Given the description of an element on the screen output the (x, y) to click on. 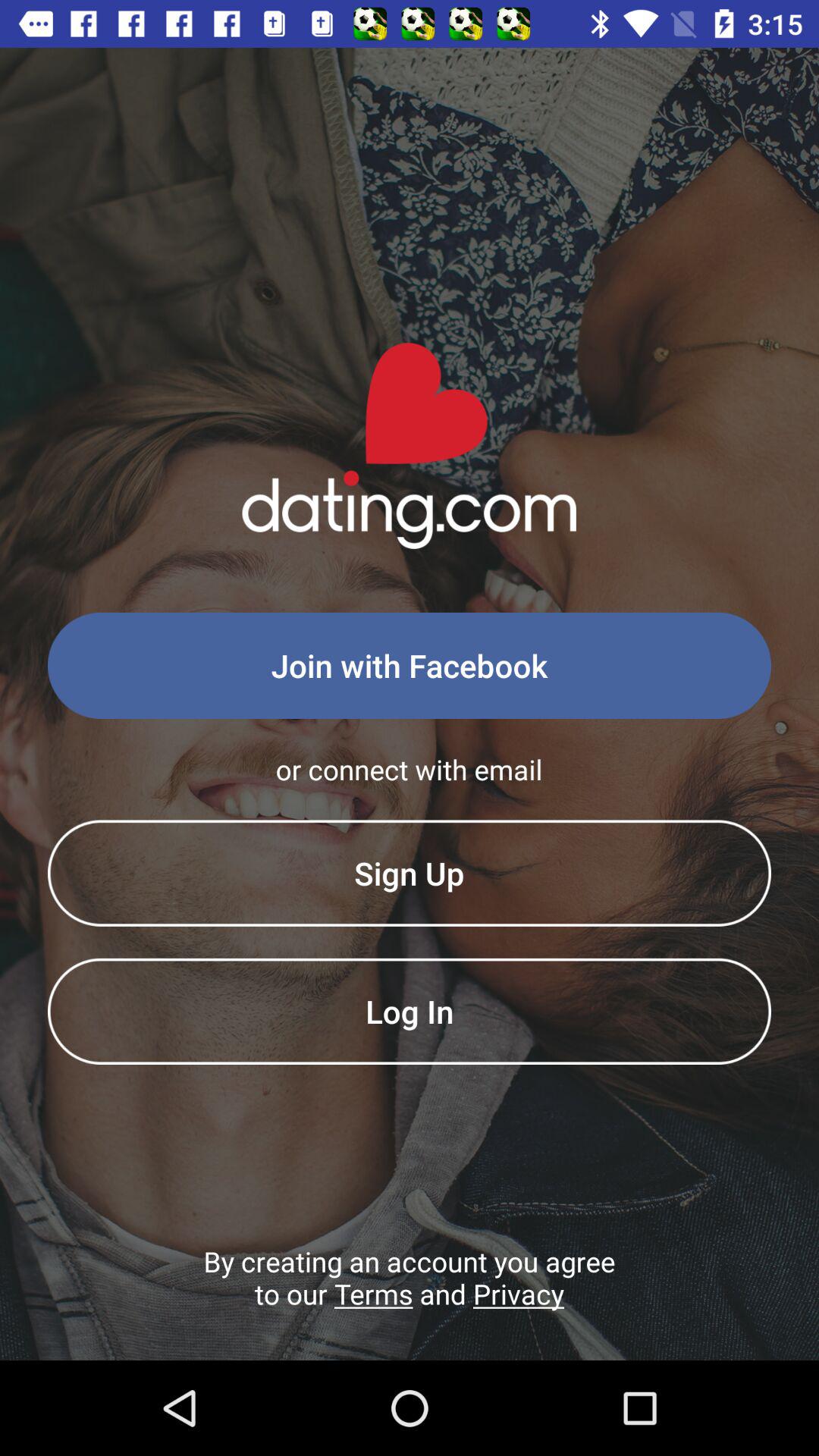
swipe until log in (409, 1011)
